Given the description of an element on the screen output the (x, y) to click on. 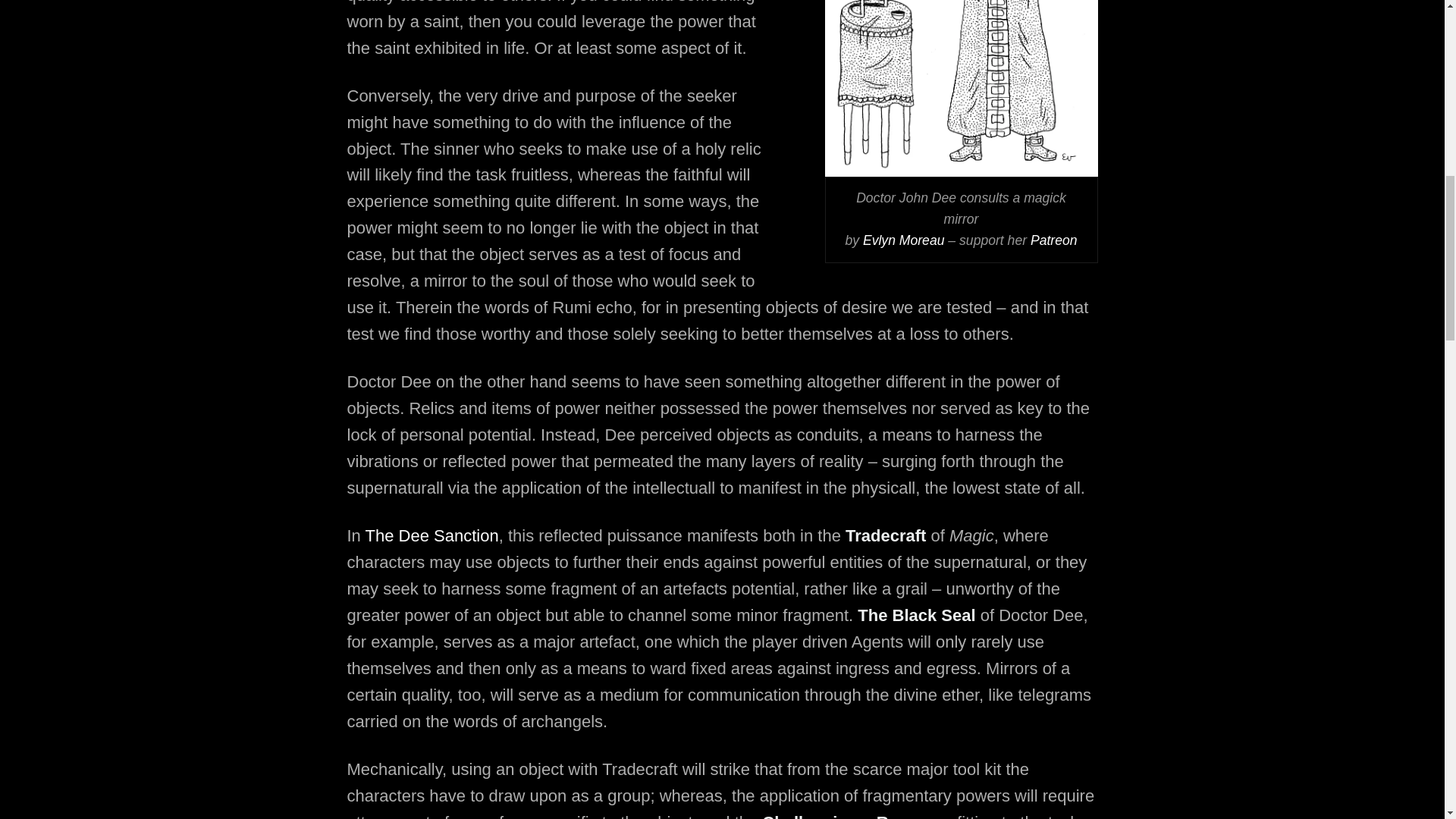
Patreon (1053, 240)
Evlyn Moreau (903, 240)
The Dee Sanction (432, 535)
